Given the description of an element on the screen output the (x, y) to click on. 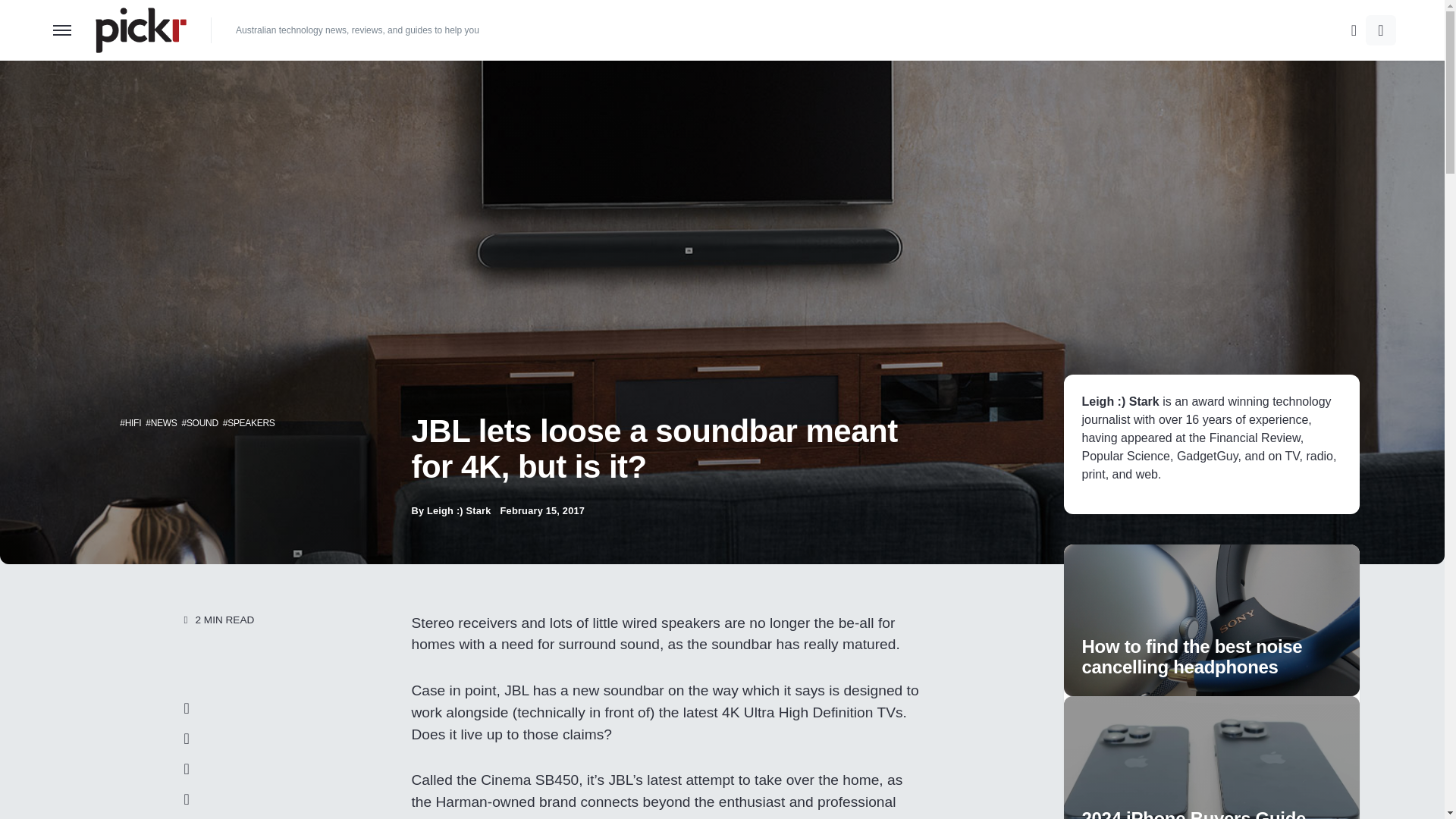
SOUND (202, 422)
SPEAKERS (251, 422)
NEWS (164, 422)
HIFI (133, 422)
